Given the description of an element on the screen output the (x, y) to click on. 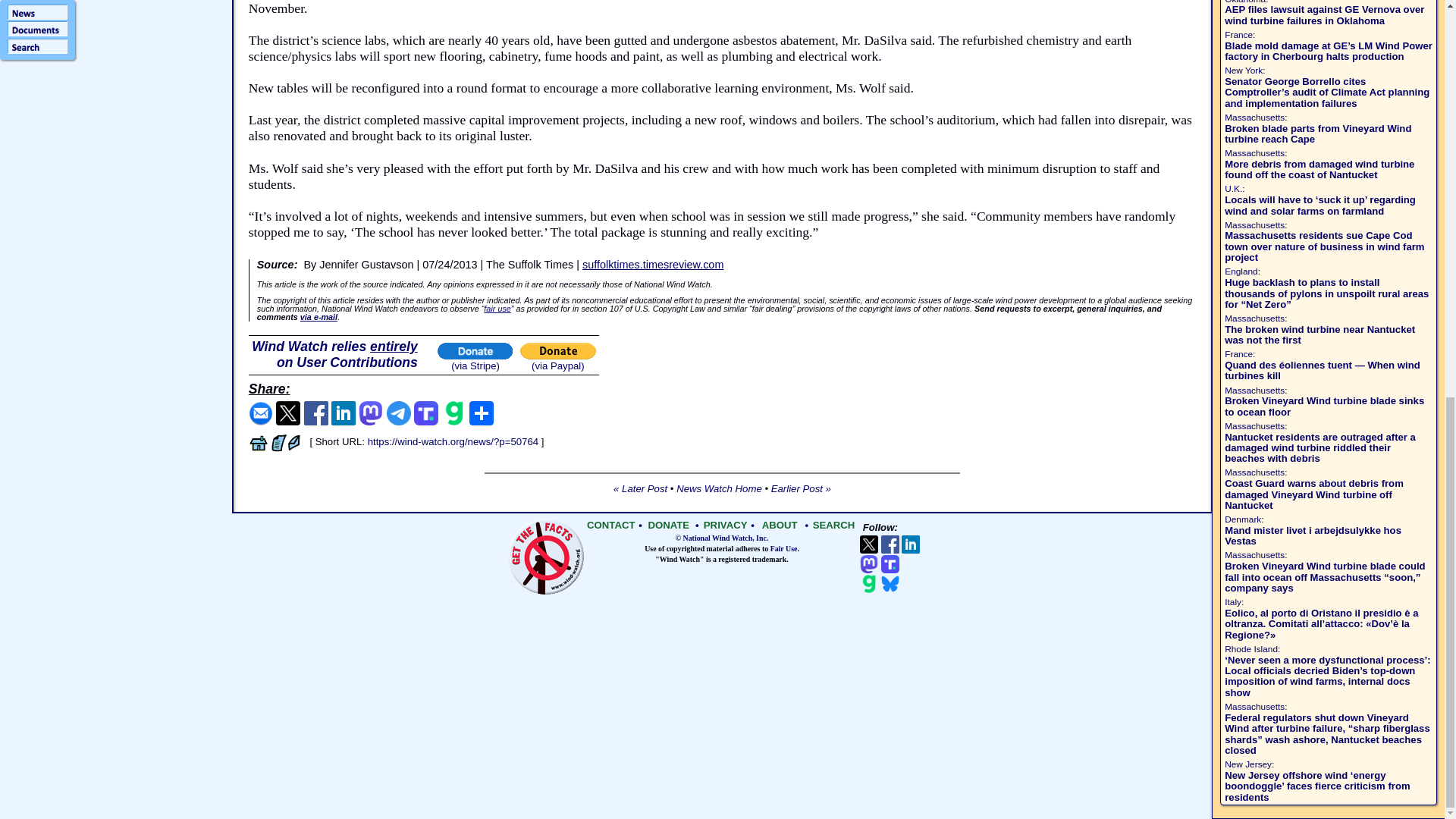
Oklahoma (1244, 2)
